Given the description of an element on the screen output the (x, y) to click on. 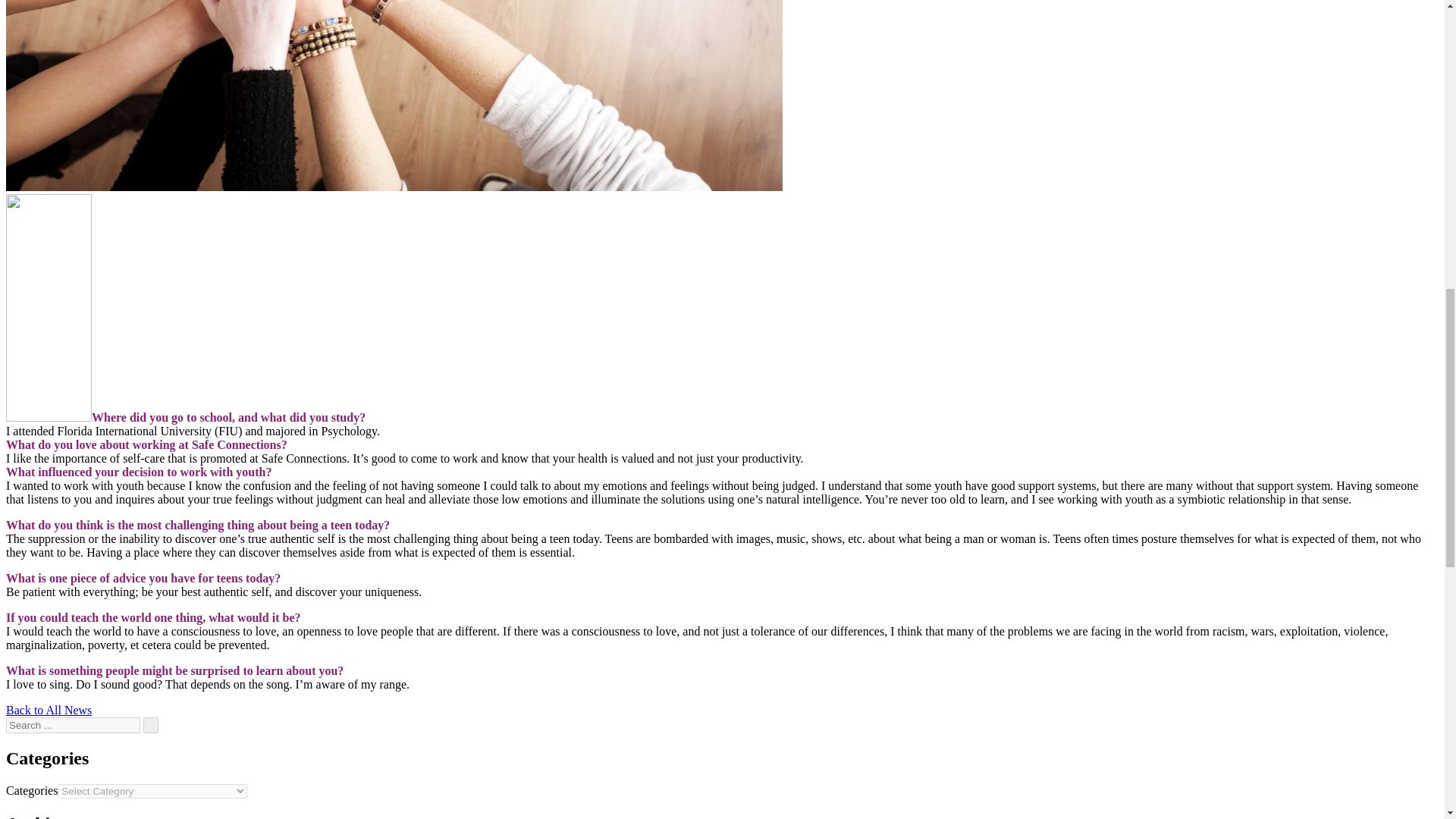
Back to All News (48, 709)
